Given the description of an element on the screen output the (x, y) to click on. 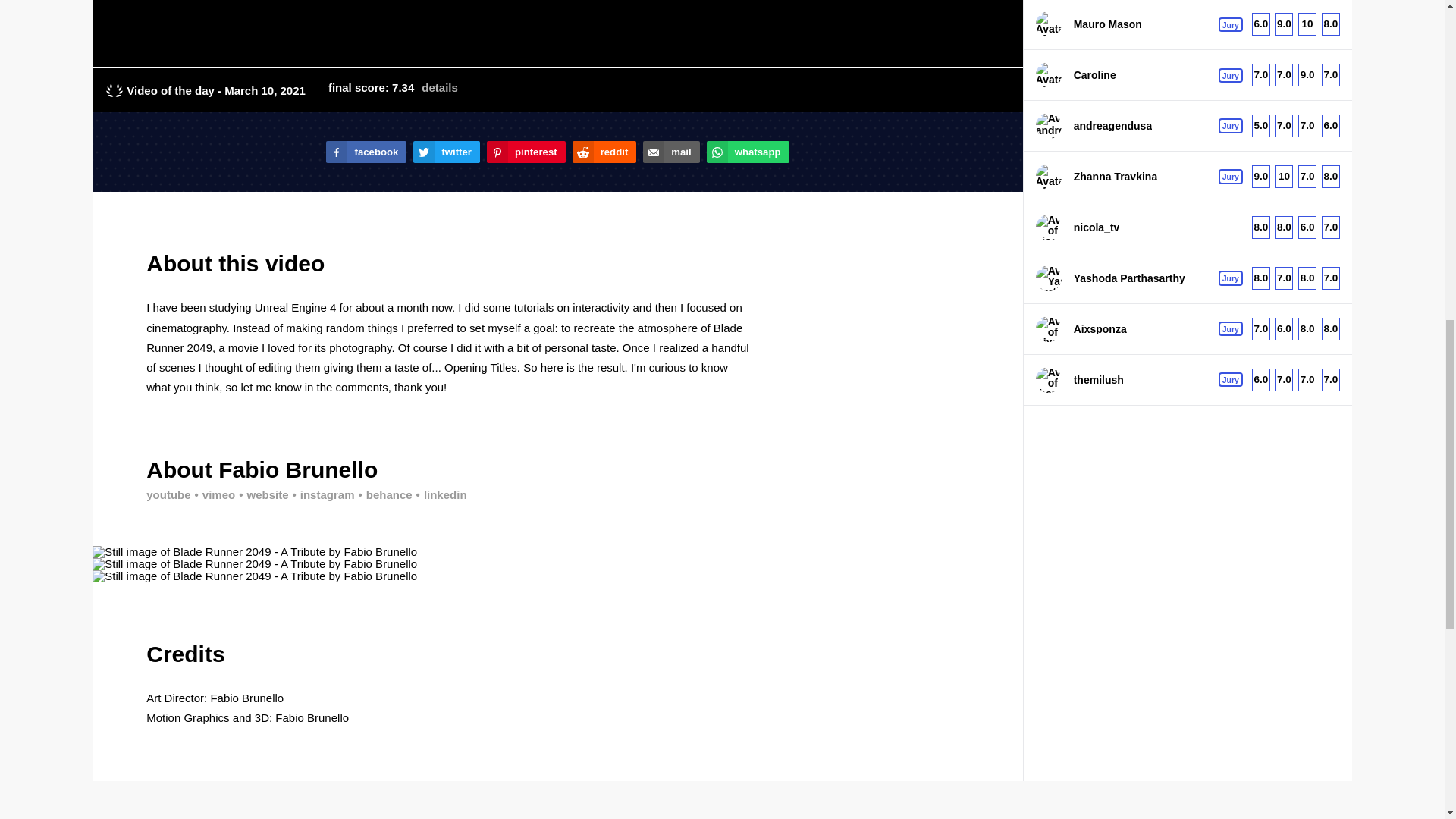
youtube (168, 494)
website (261, 494)
behance of Fabio Brunello (382, 494)
behance (382, 494)
linkedin of Fabio Brunello (439, 494)
instagram of Fabio Brunello (321, 494)
vimeo of Fabio Brunello (212, 494)
vimeo (212, 494)
youtube of Fabio Brunello (168, 494)
linkedin (439, 494)
instagram (321, 494)
website of Fabio Brunello (261, 494)
